Given the description of an element on the screen output the (x, y) to click on. 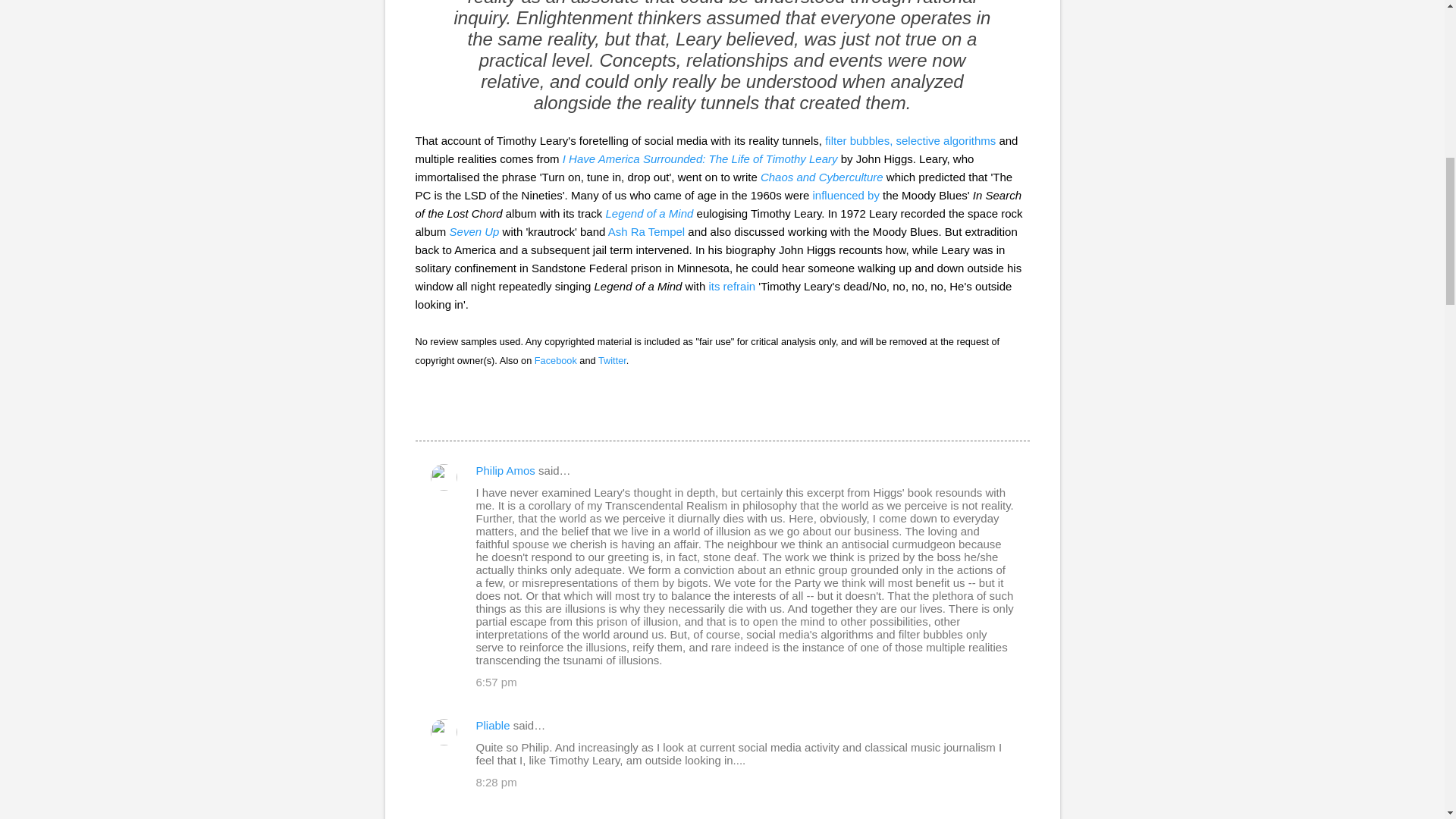
Philip Amos (505, 470)
comment permalink (496, 681)
Seven Up (474, 231)
6:57 pm (496, 681)
8:28 pm (496, 781)
influenced by (845, 195)
Ash Ra Tempel (646, 231)
its refrain (731, 286)
filter bubbles, selective algorithms (910, 140)
Facebook (555, 360)
Chaos and Cyberculture (821, 176)
Legend of a Mind (649, 213)
Email Post (423, 412)
I Have America Surrounded: The Life of Timothy Leary (700, 158)
Twitter (612, 360)
